Given the description of an element on the screen output the (x, y) to click on. 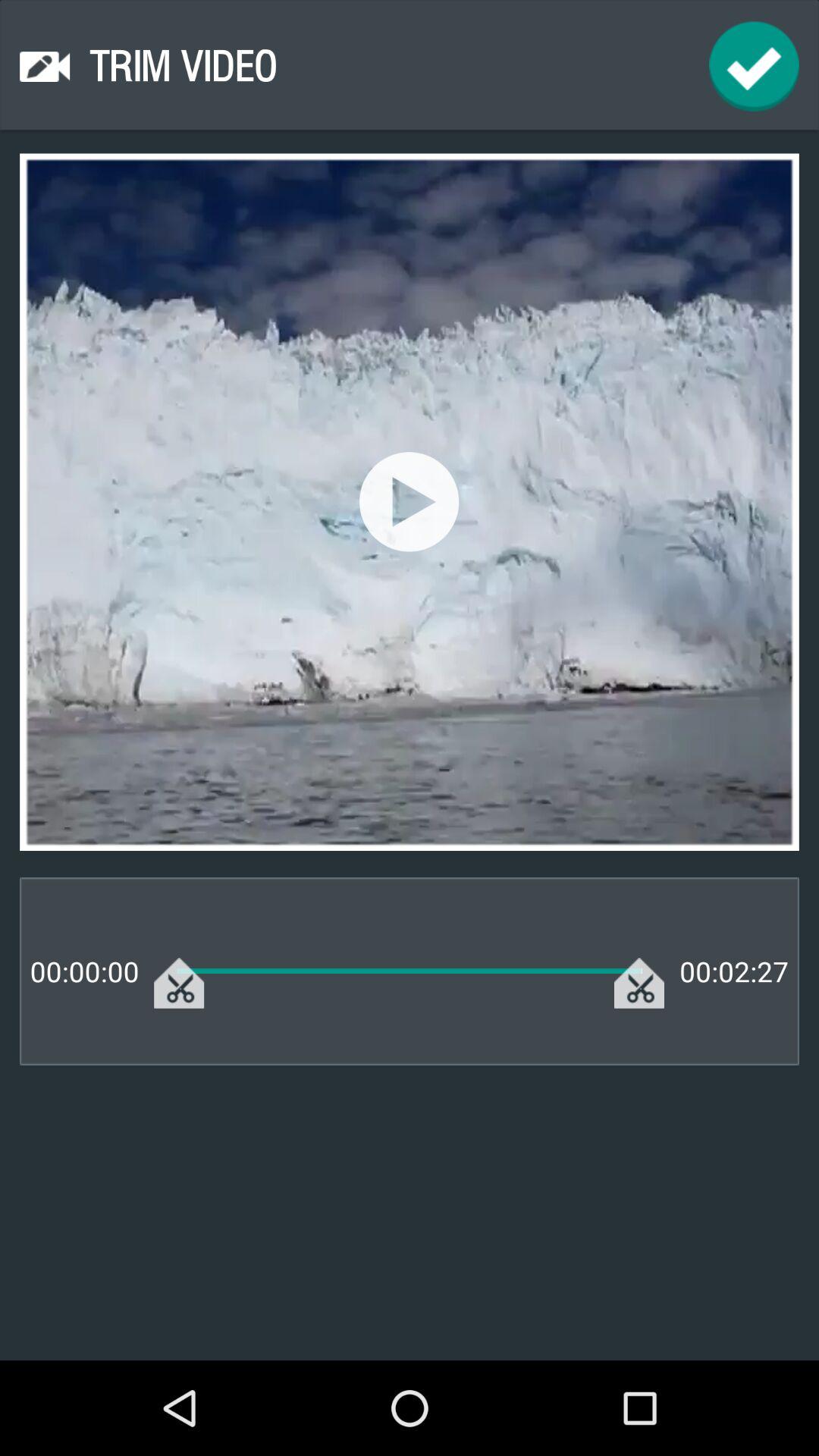
play the video (408, 501)
